Given the description of an element on the screen output the (x, y) to click on. 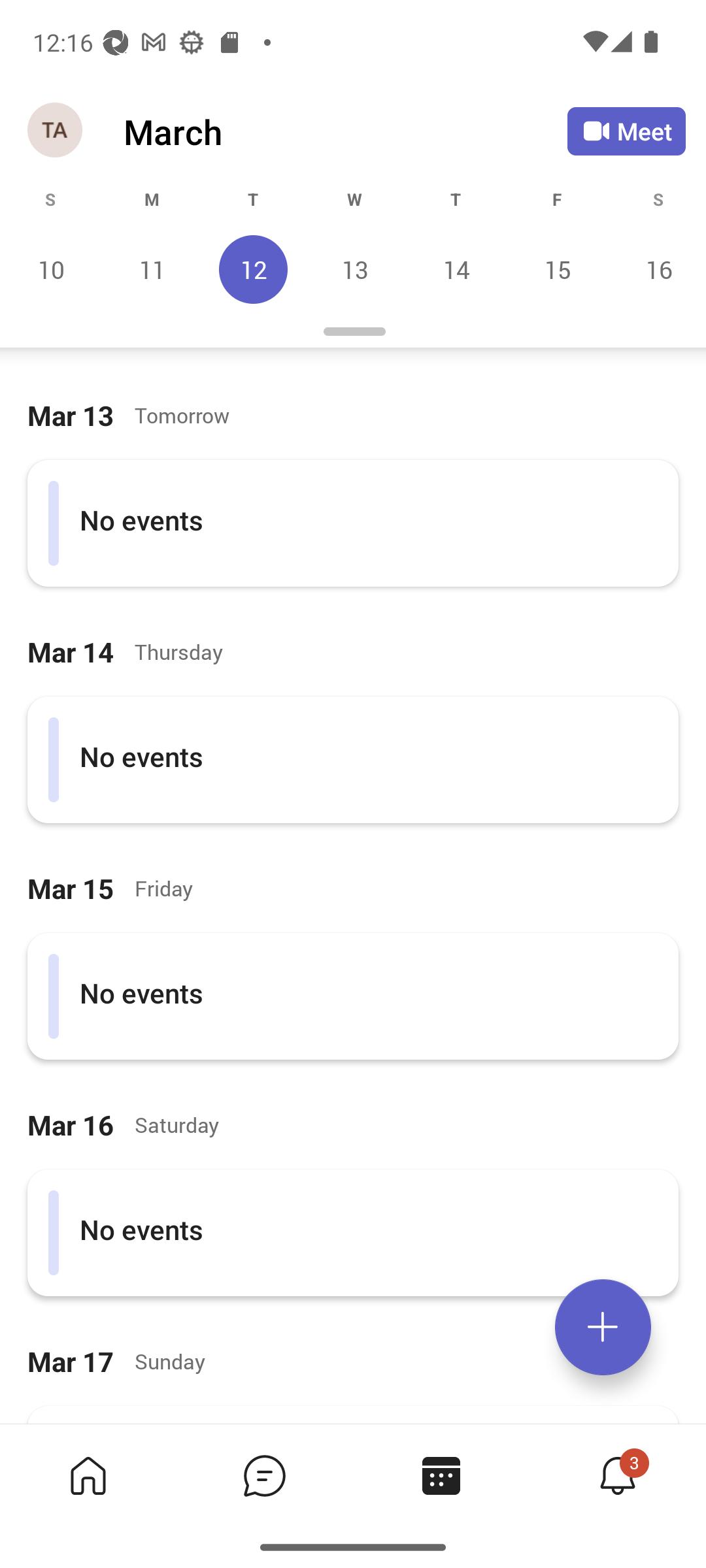
Navigation (56, 130)
Meet Meet now or join with an ID (626, 130)
March March Calendar Agenda View (345, 131)
Sunday, March 10 10 (50, 269)
Monday, March 11 11 (151, 269)
Tuesday, March 12, Today, Selected 12 (253, 269)
Wednesday, March 13 13 (354, 269)
Thursday, March 14 14 (455, 269)
Friday, March 15 15 (556, 269)
Saturday, March 16 16 (656, 269)
Expand meetings menu (602, 1327)
Home tab,1 of 4, not selected (88, 1475)
Chat tab,2 of 4, not selected (264, 1475)
Calendar tab, 3 of 4 (441, 1475)
Activity tab,4 of 4, not selected, 3 new 3 (617, 1475)
